Given the description of an element on the screen output the (x, y) to click on. 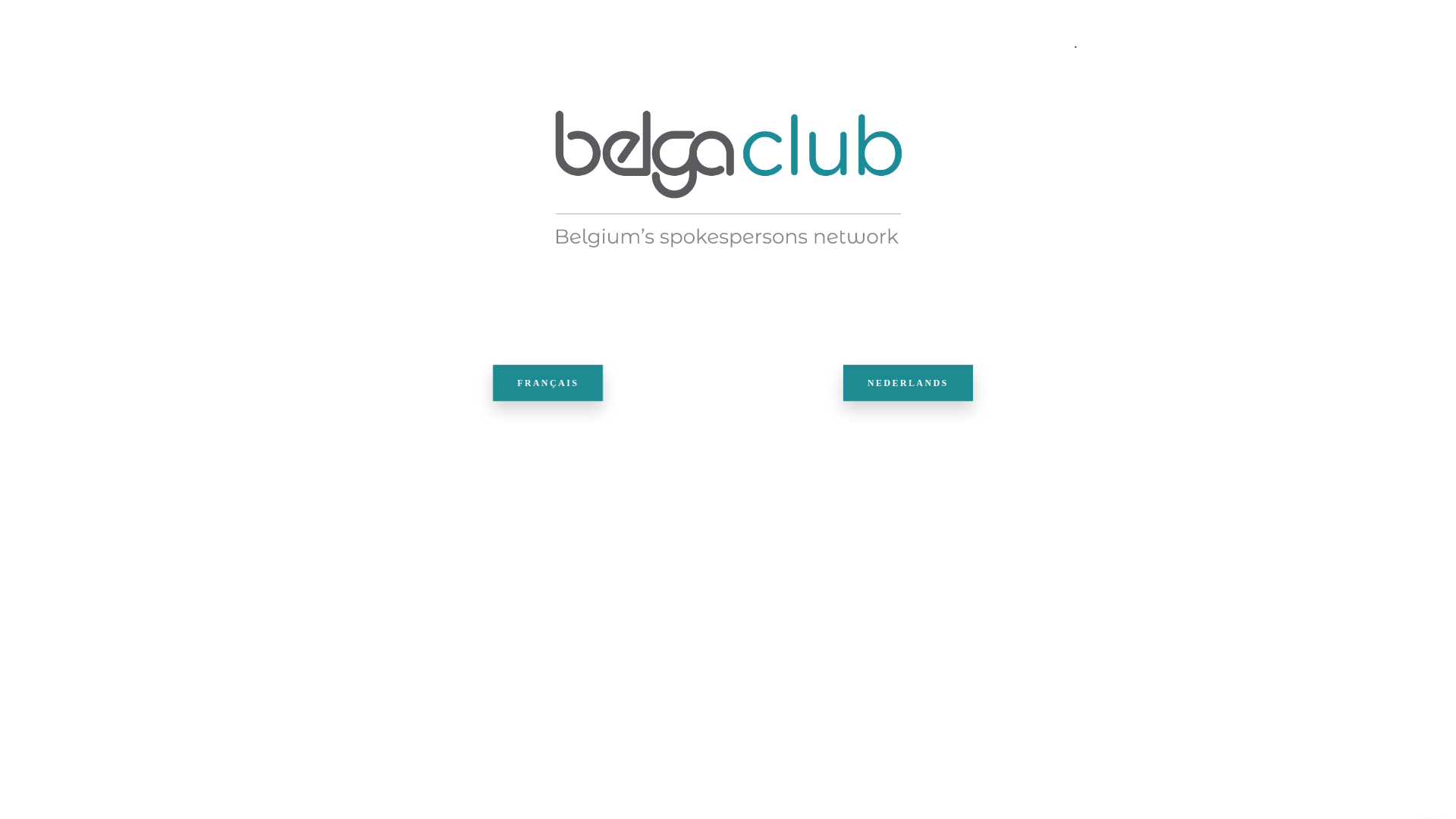
. Element type: text (1075, 44)
NEDERLANDS Element type: text (907, 382)
